Given the description of an element on the screen output the (x, y) to click on. 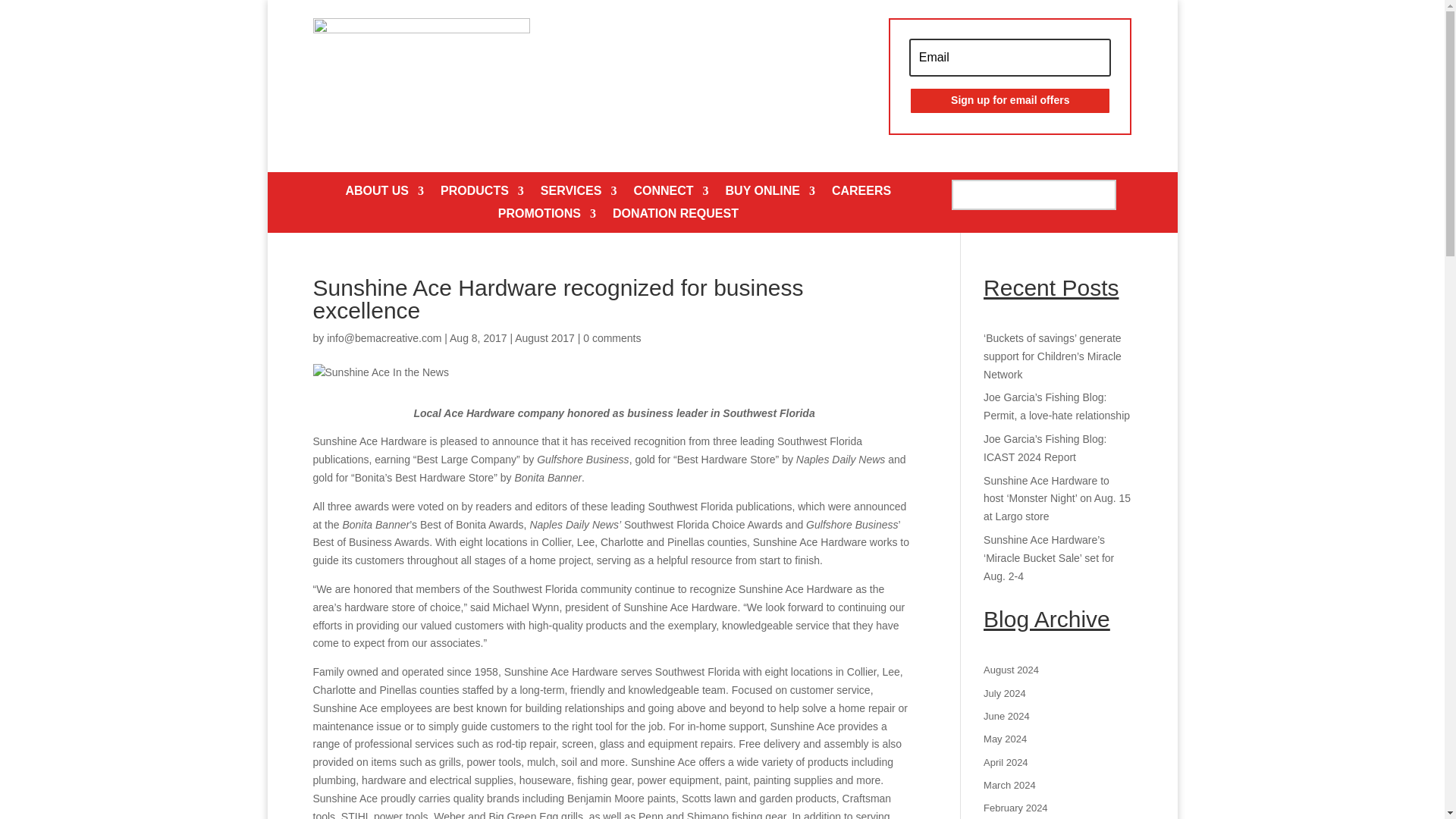
CONNECT (670, 193)
Sign up for email offers (1009, 100)
SERVICES (578, 193)
PRODUCTS (482, 193)
logo-mobile (421, 71)
ABOUT US (384, 193)
